Given the description of an element on the screen output the (x, y) to click on. 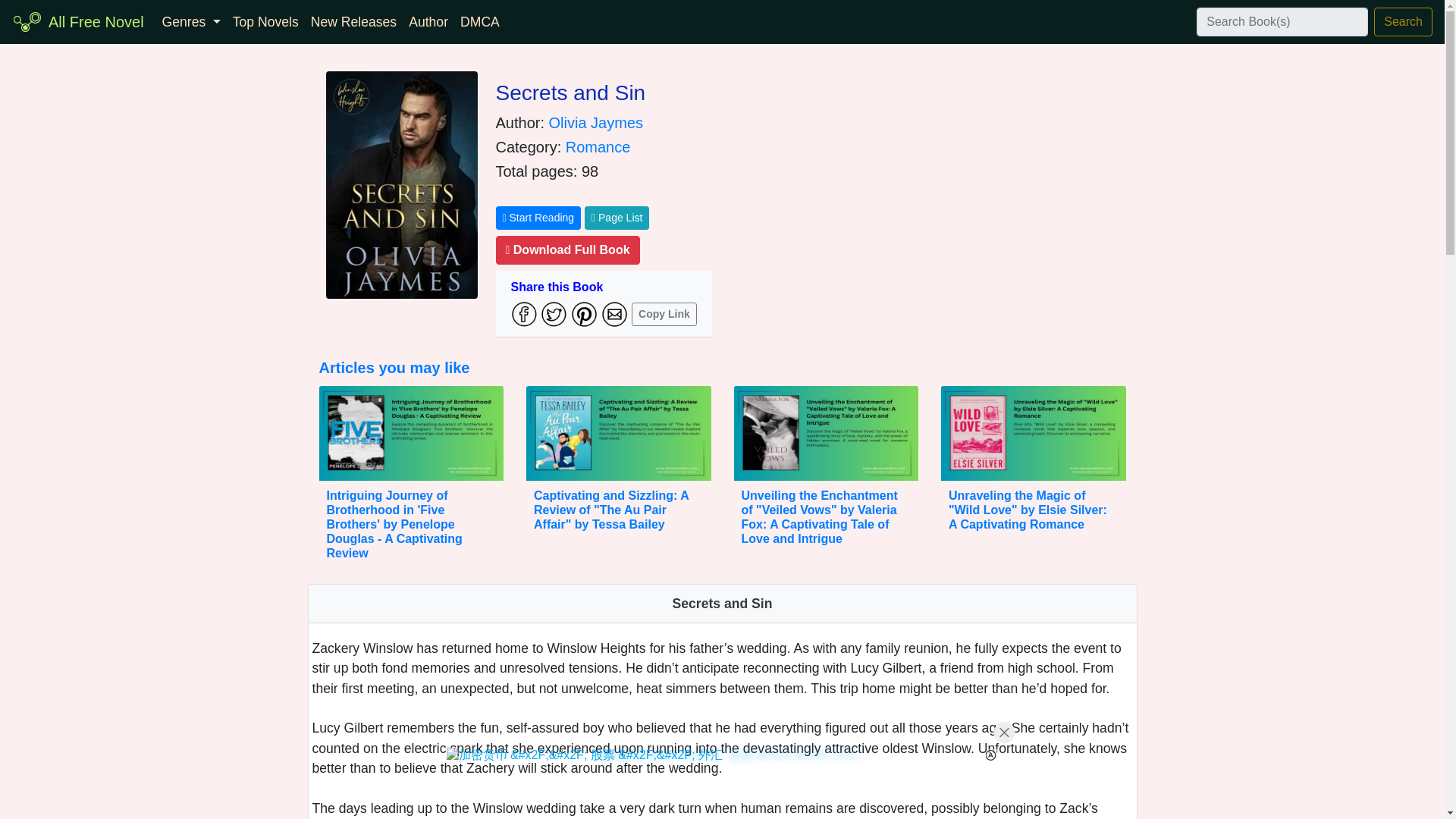
Home (96, 21)
Romance (598, 146)
Top Novels (265, 21)
Start Reading (538, 218)
Secrets and Sin (571, 92)
Olivia Jaymes (595, 122)
Search (1403, 21)
Author (428, 21)
Author List (428, 21)
Genres (191, 21)
